Given the description of an element on the screen output the (x, y) to click on. 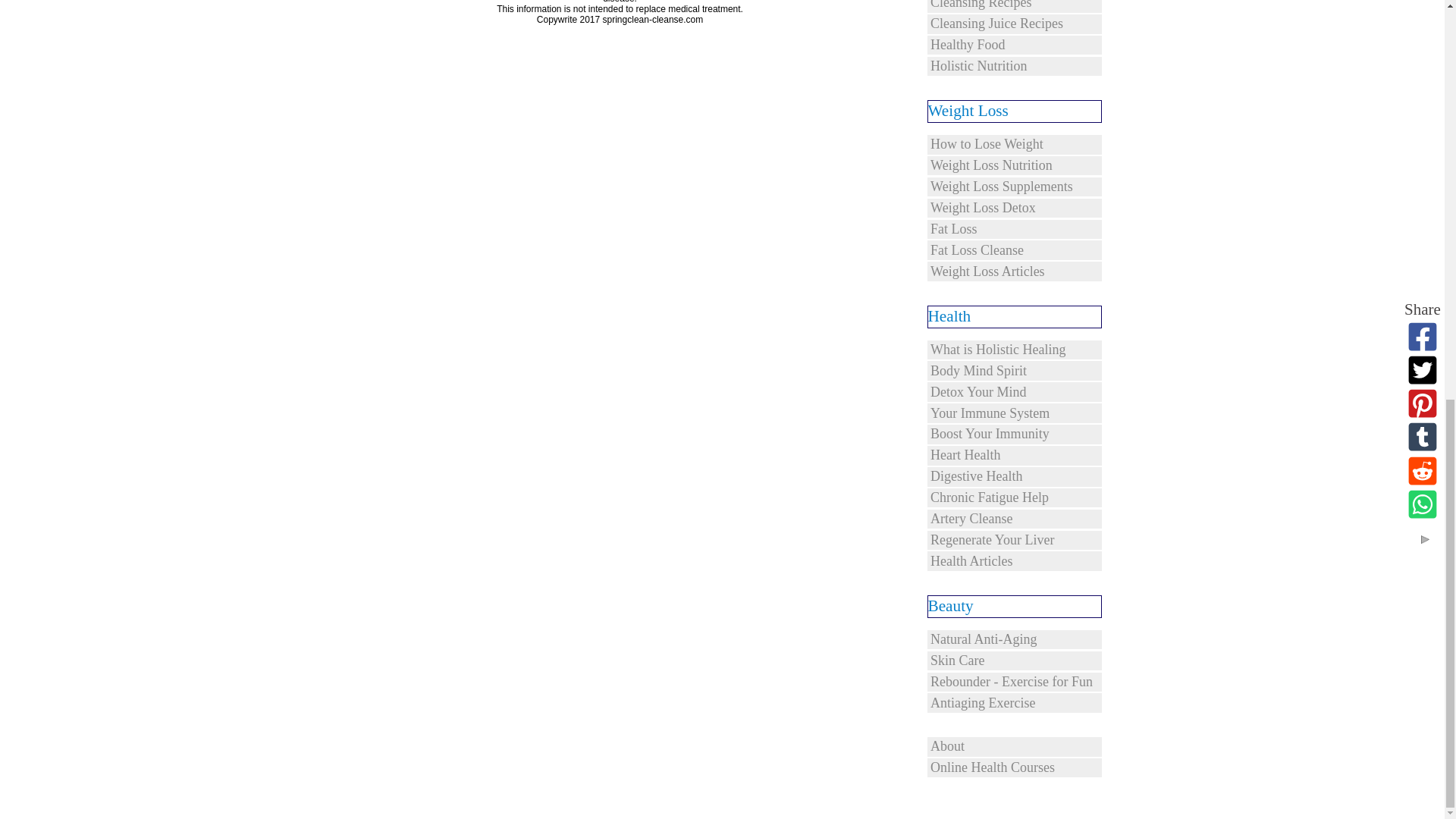
Weight Loss Supplements (1013, 187)
Weight Loss Nutrition (1013, 166)
Cleansing Recipes (1013, 6)
Healthy Food (1013, 45)
Cleansing Juice Recipes (1013, 24)
Holistic Nutrition (1013, 66)
How to Lose Weight (1013, 144)
